Given the description of an element on the screen output the (x, y) to click on. 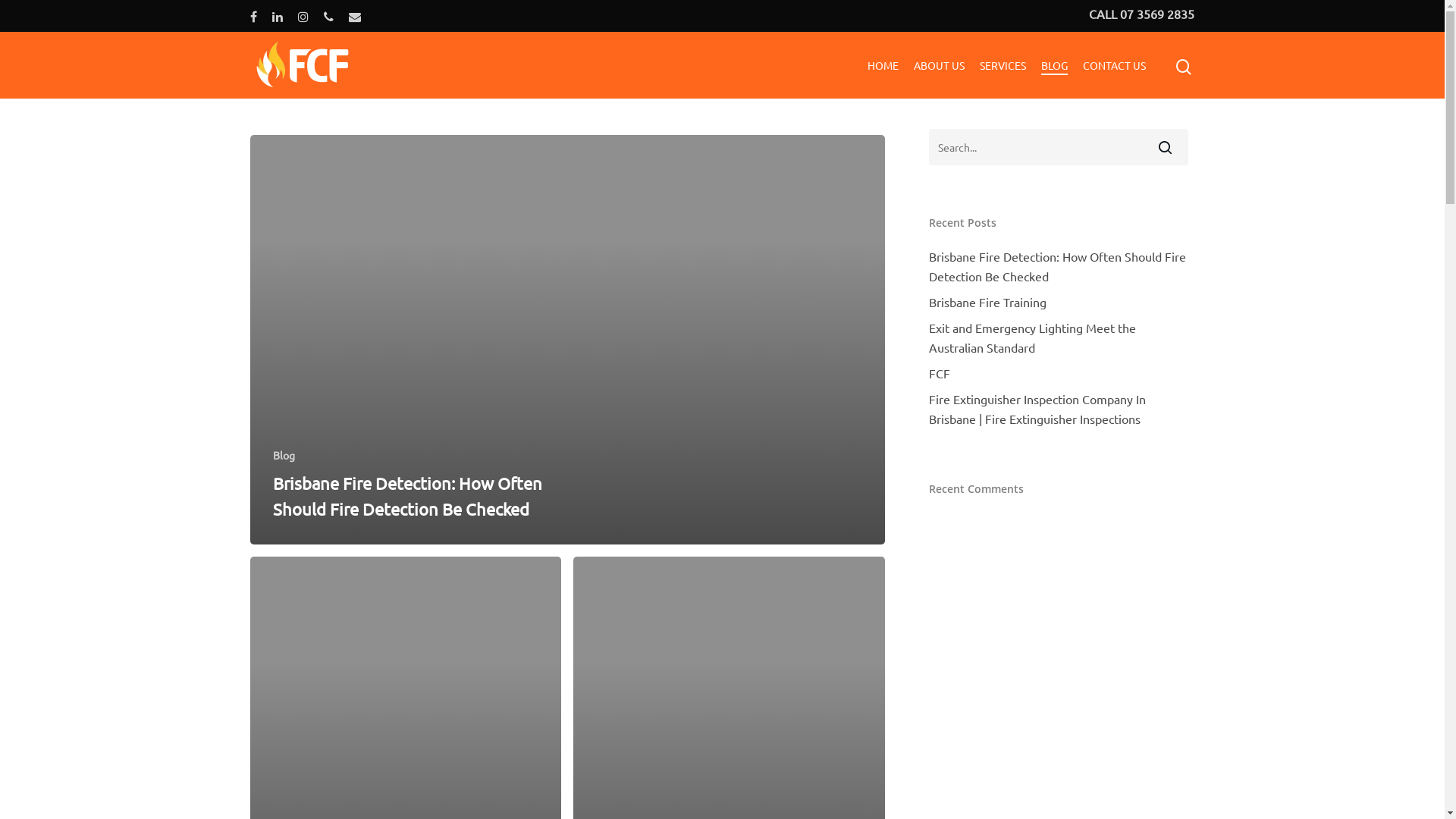
CALL 07 3569 2835 Element type: text (1141, 13)
Contact Us .
Contact Us . Element type: text (1043, 684)
SERVICES Element type: text (1002, 64)
HOME Element type: text (882, 64)
CONTACT US Element type: text (1113, 64)
Exit and Emergency Lighting Meet the Australian Standard Element type: text (1058, 337)
Search for: Element type: hover (1058, 146)
ABOUT US Element type: text (938, 64)
BLOG Element type: text (1054, 64)
Brisbane Fire Training Element type: text (1058, 301)
Blog Element type: text (283, 455)
FCF Element type: text (1058, 372)
